Given the description of an element on the screen output the (x, y) to click on. 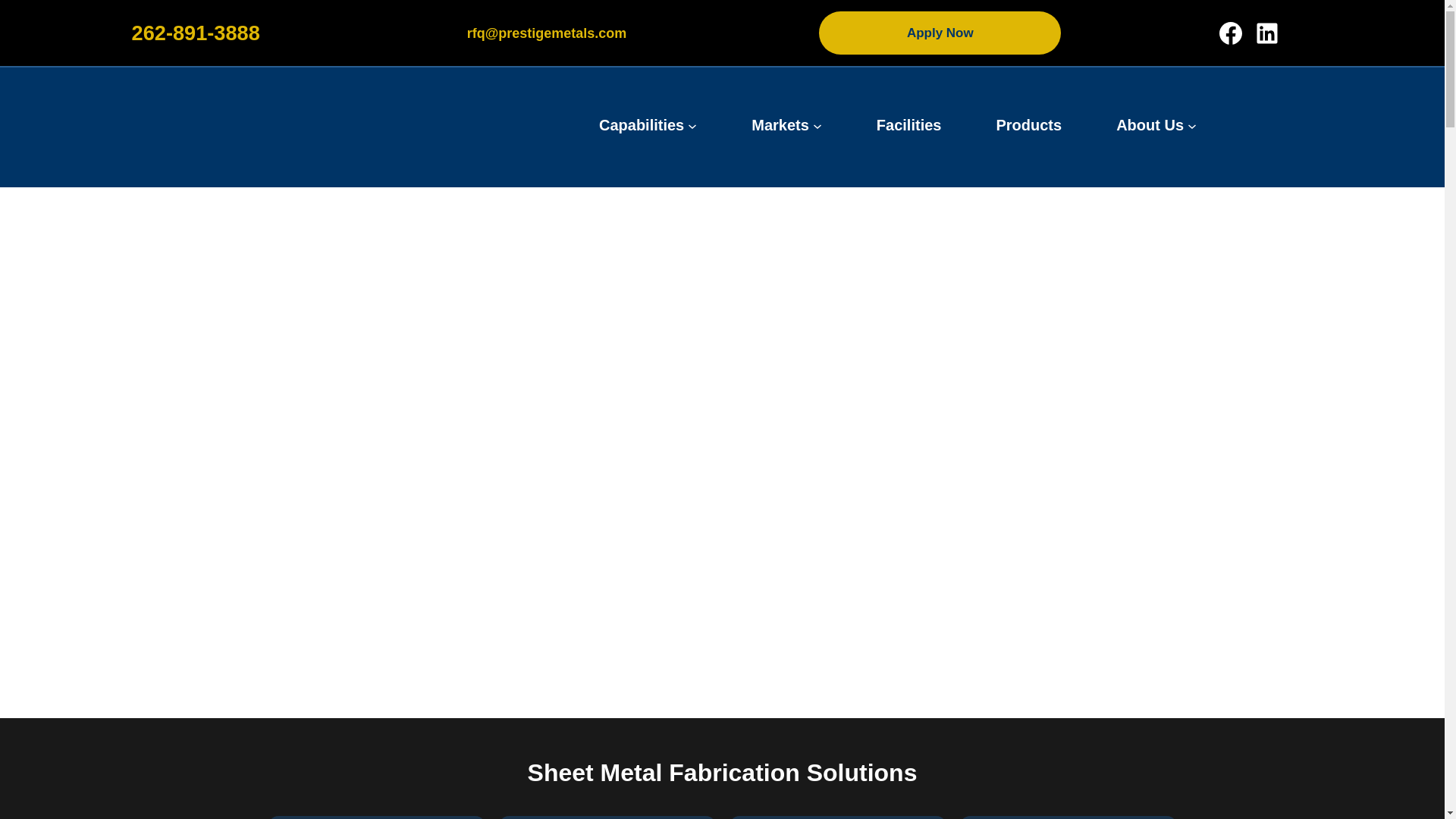
About Us (1149, 125)
Markets (780, 125)
Apply Now (939, 32)
Products (1028, 125)
Facilities (909, 125)
Capabilities (641, 125)
262-891-3888 (196, 33)
LinkedIn (1267, 32)
Facebook (1230, 32)
